Given the description of an element on the screen output the (x, y) to click on. 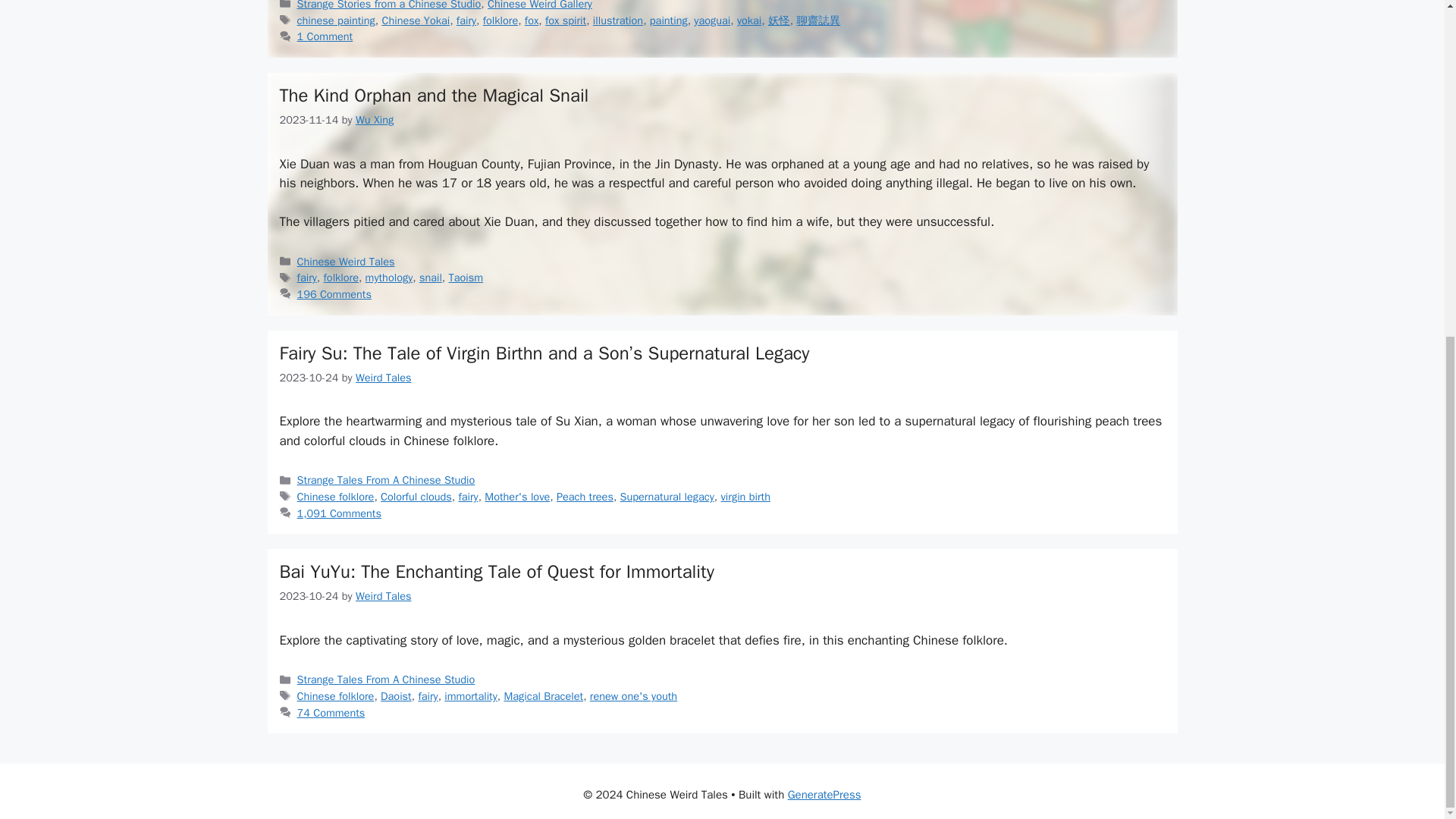
fox (531, 20)
folklore (500, 20)
fox spirit (565, 20)
View all posts by Wu Xing (374, 119)
Chinese Weird Gallery (539, 5)
chinese painting (336, 20)
illustration (617, 20)
Chinese Yokai (415, 20)
Strange Stories from a Chinese Studio (389, 5)
View all posts by Weird Tales (383, 377)
fairy (466, 20)
View all posts by Weird Tales (383, 595)
